Given the description of an element on the screen output the (x, y) to click on. 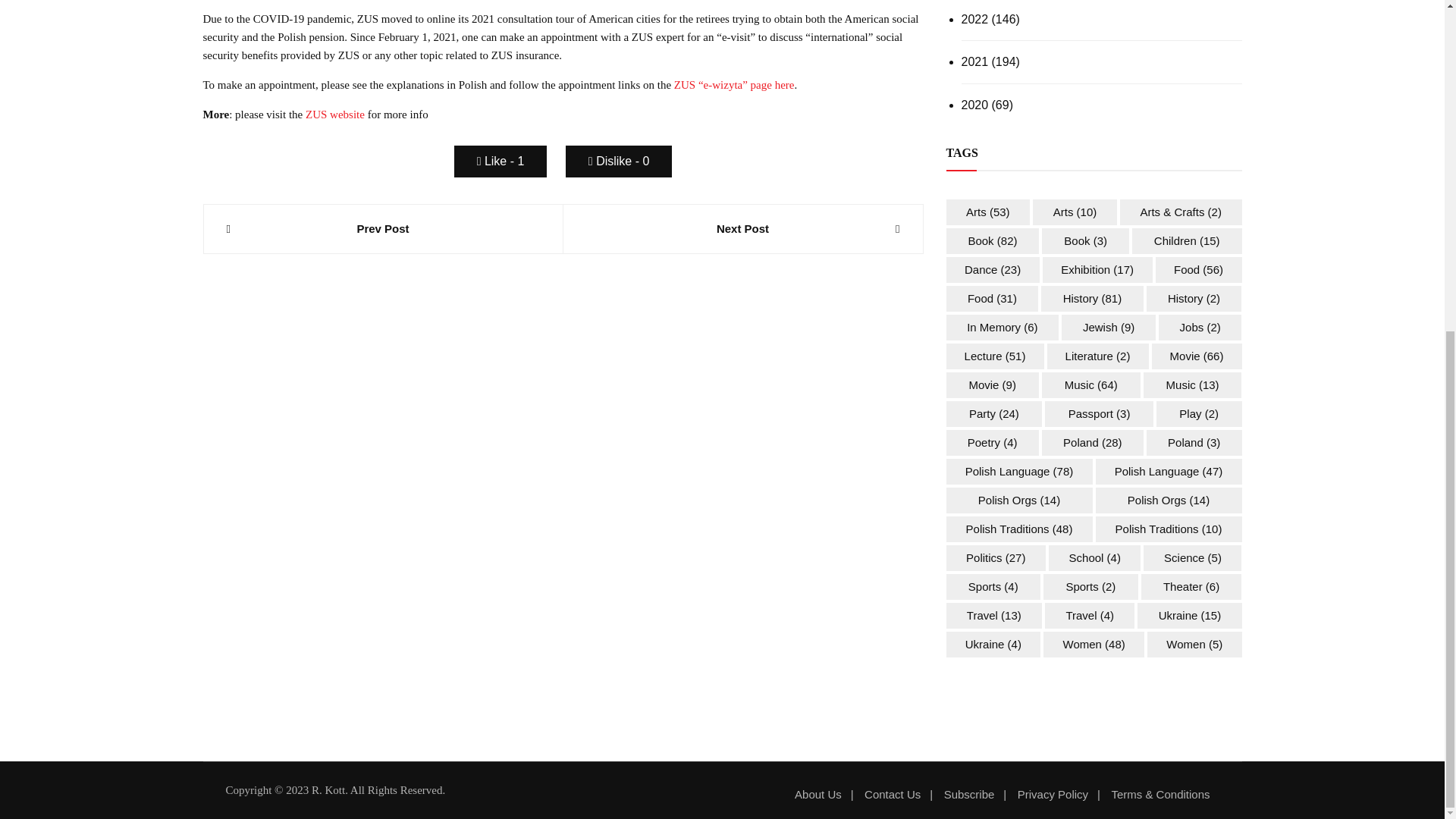
Like - 1 (500, 161)
2022 (974, 19)
2021 (974, 62)
2020 (974, 105)
Prev Post (381, 229)
Dislike - 0 (619, 161)
Next Post (742, 229)
ZUS website (335, 114)
